Given the description of an element on the screen output the (x, y) to click on. 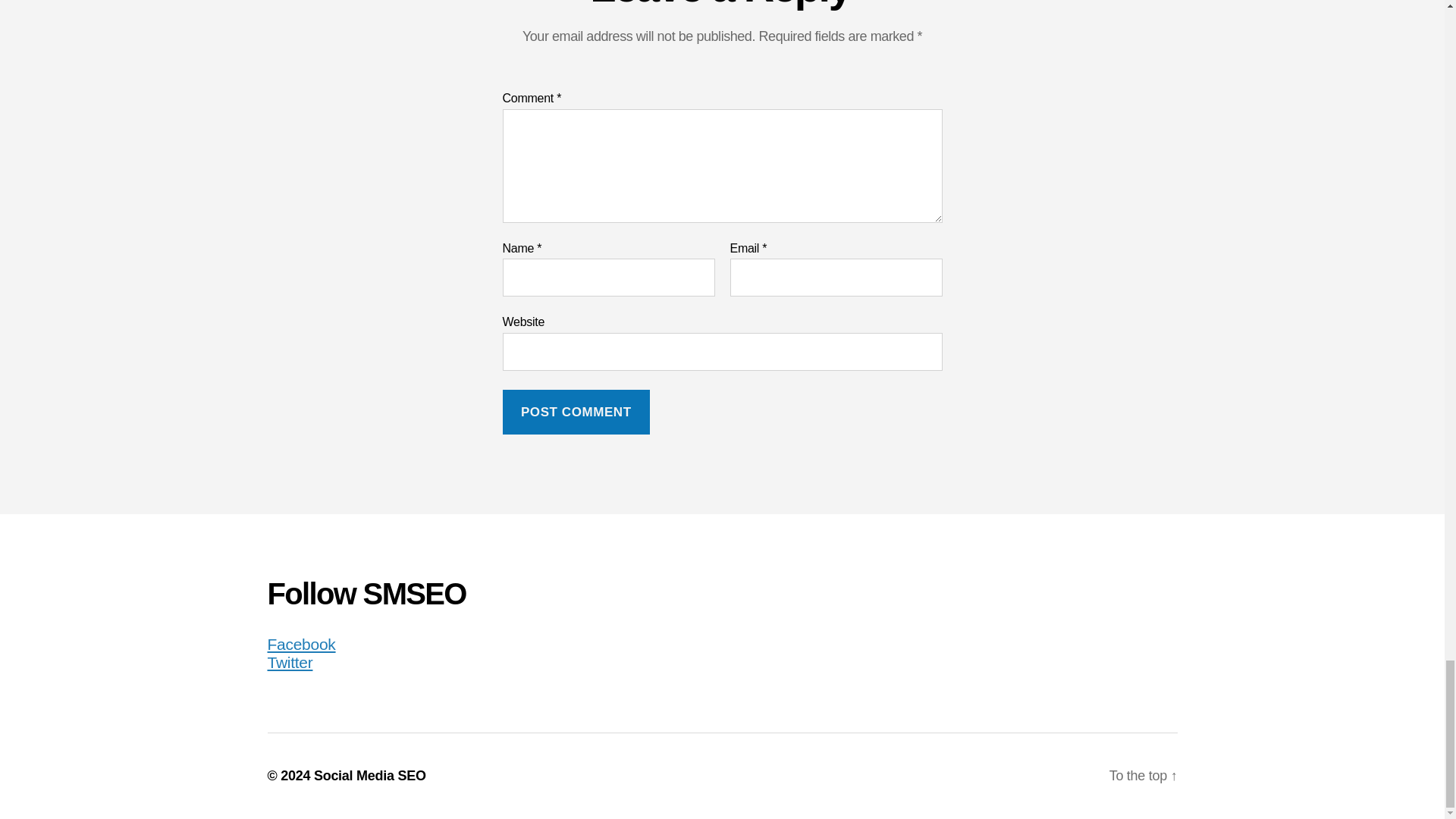
Post Comment (575, 411)
